Given the description of an element on the screen output the (x, y) to click on. 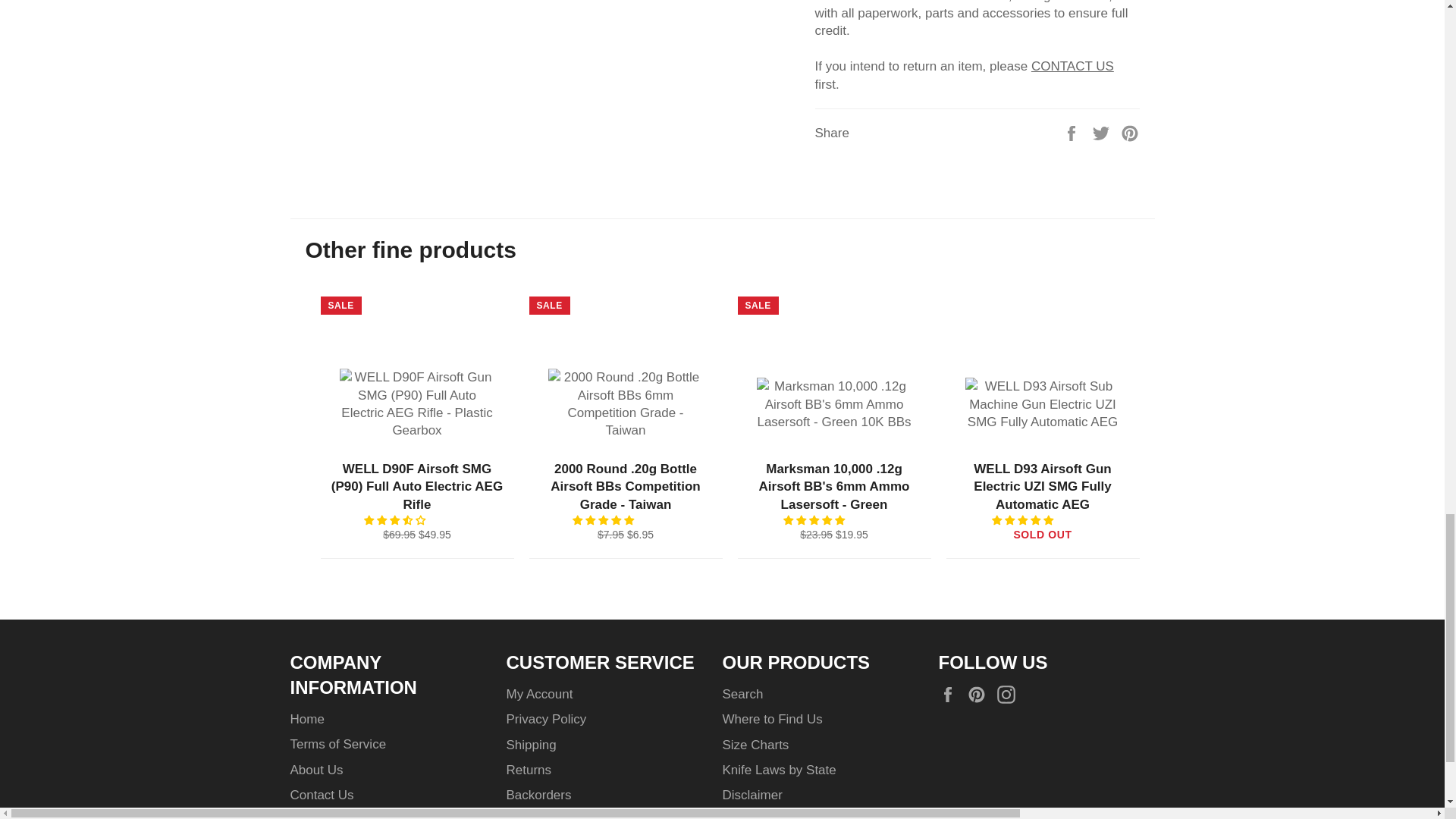
Tweet on Twitter (1102, 133)
Share on Facebook (1073, 133)
Slash2Gash on Facebook (951, 694)
Slash2Gash on Instagram (1010, 694)
Pin on Pinterest (1129, 133)
Slash2Gash on Pinterest (980, 694)
